Given the description of an element on the screen output the (x, y) to click on. 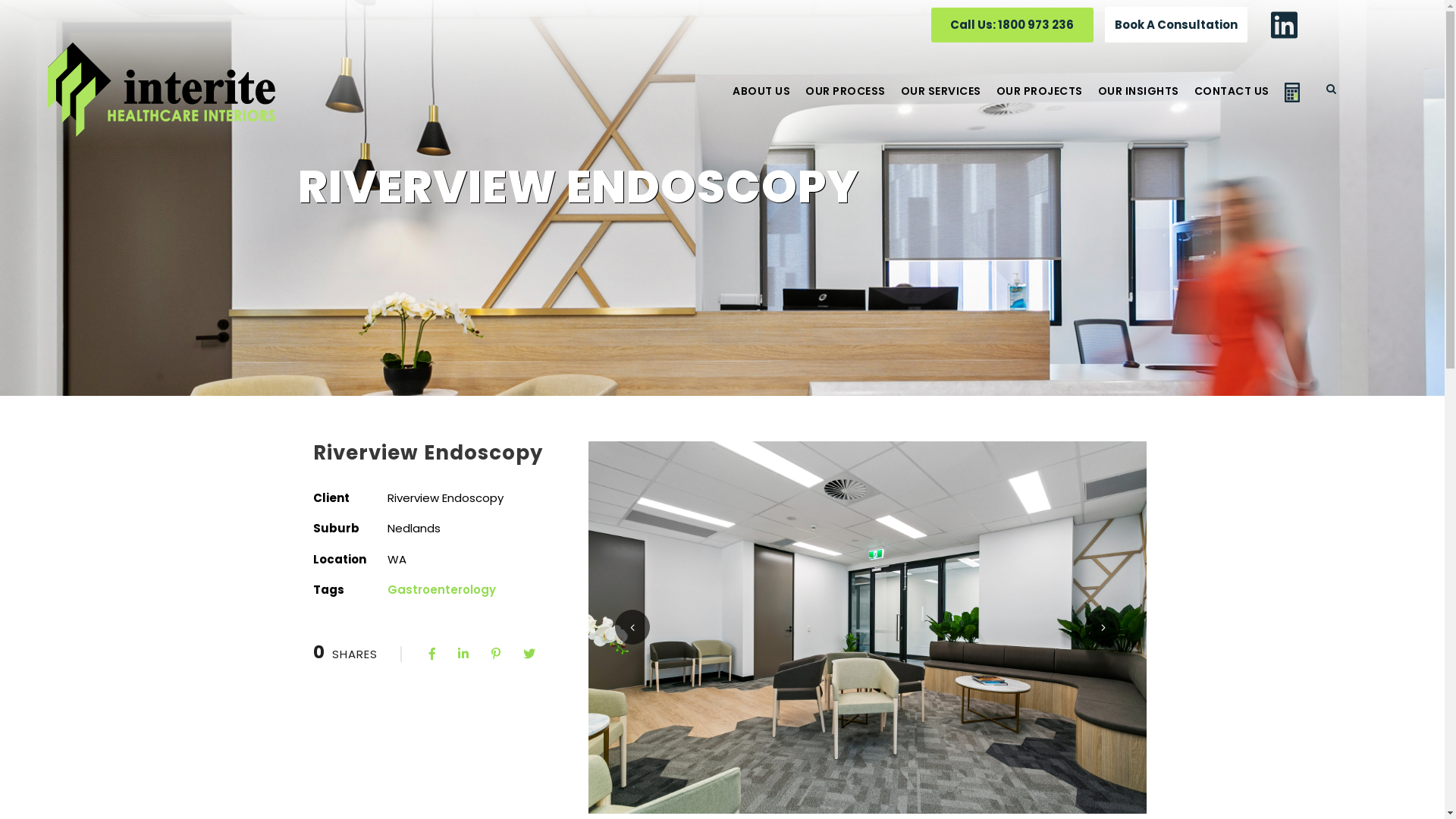
OUR SERVICES Element type: text (940, 100)
CONTACT US Element type: text (1231, 100)
Book A Consultation Element type: text (1175, 24)
Call Us: 1800 973 236 Element type: text (1005, 28)
OUR PROJECTS Element type: text (1039, 100)
ABOUT US Element type: text (761, 100)
OUR INSIGHTS Element type: text (1138, 100)
OUR PROCESS Element type: text (845, 100)
Gastroenterology Element type: text (440, 589)
